Given the description of an element on the screen output the (x, y) to click on. 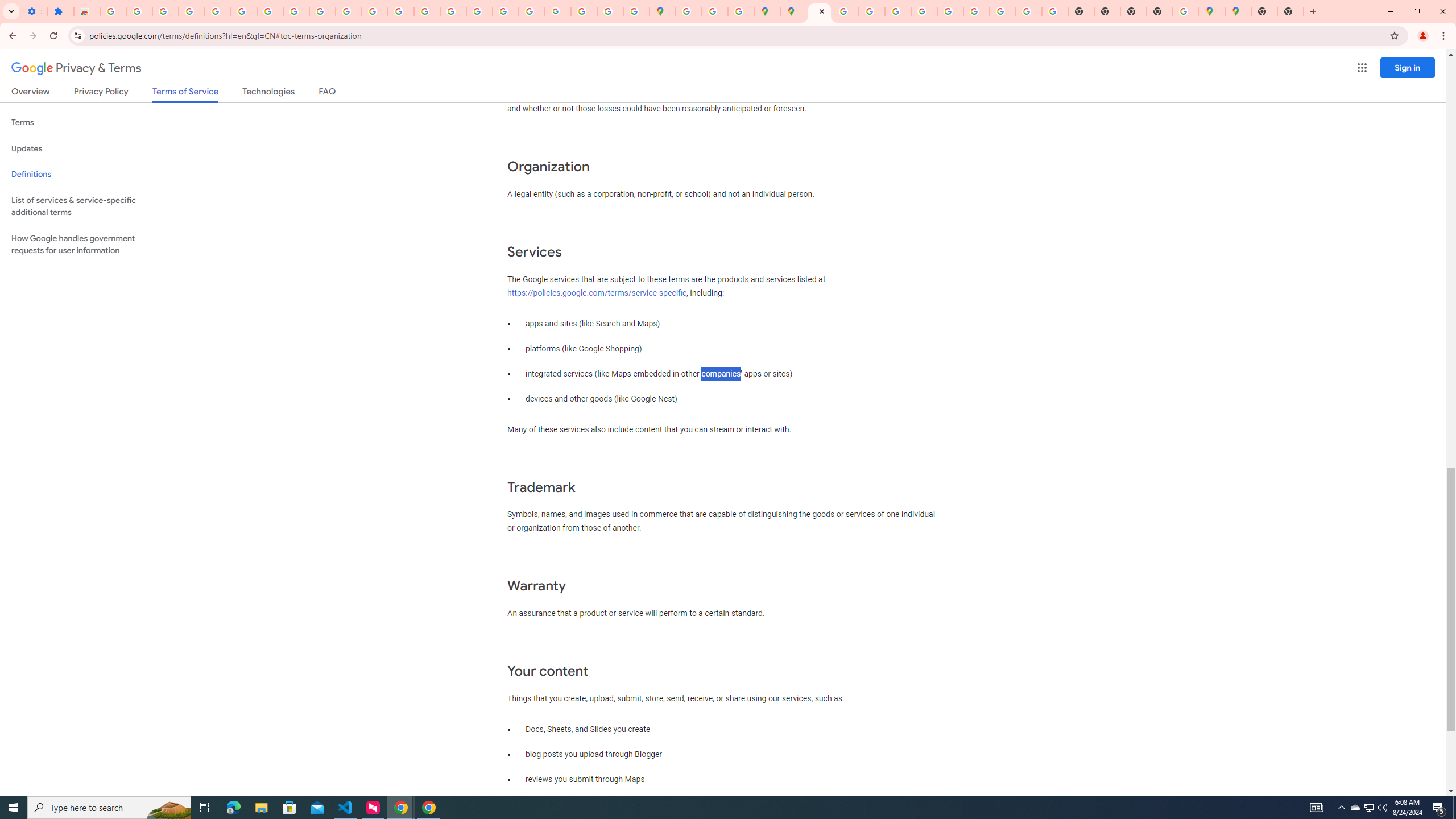
Sign in - Google Accounts (112, 11)
Extensions (60, 11)
FAQ (327, 93)
Learn how to find your photos - Google Photos Help (165, 11)
Google Maps (663, 11)
Google Maps (1238, 11)
